Given the description of an element on the screen output the (x, y) to click on. 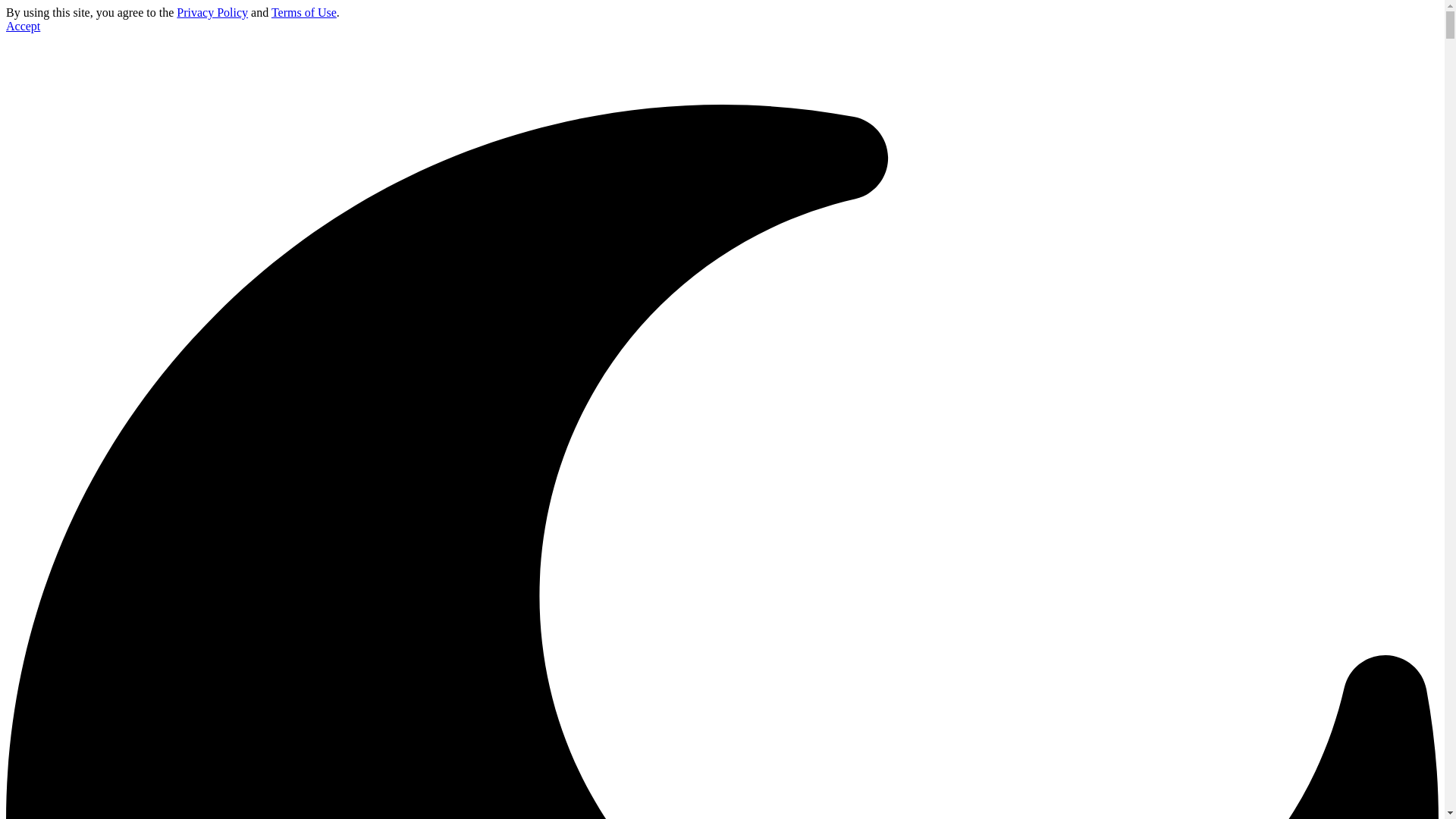
Terms of Use (303, 11)
Accept (22, 25)
Privacy Policy (211, 11)
